Given the description of an element on the screen output the (x, y) to click on. 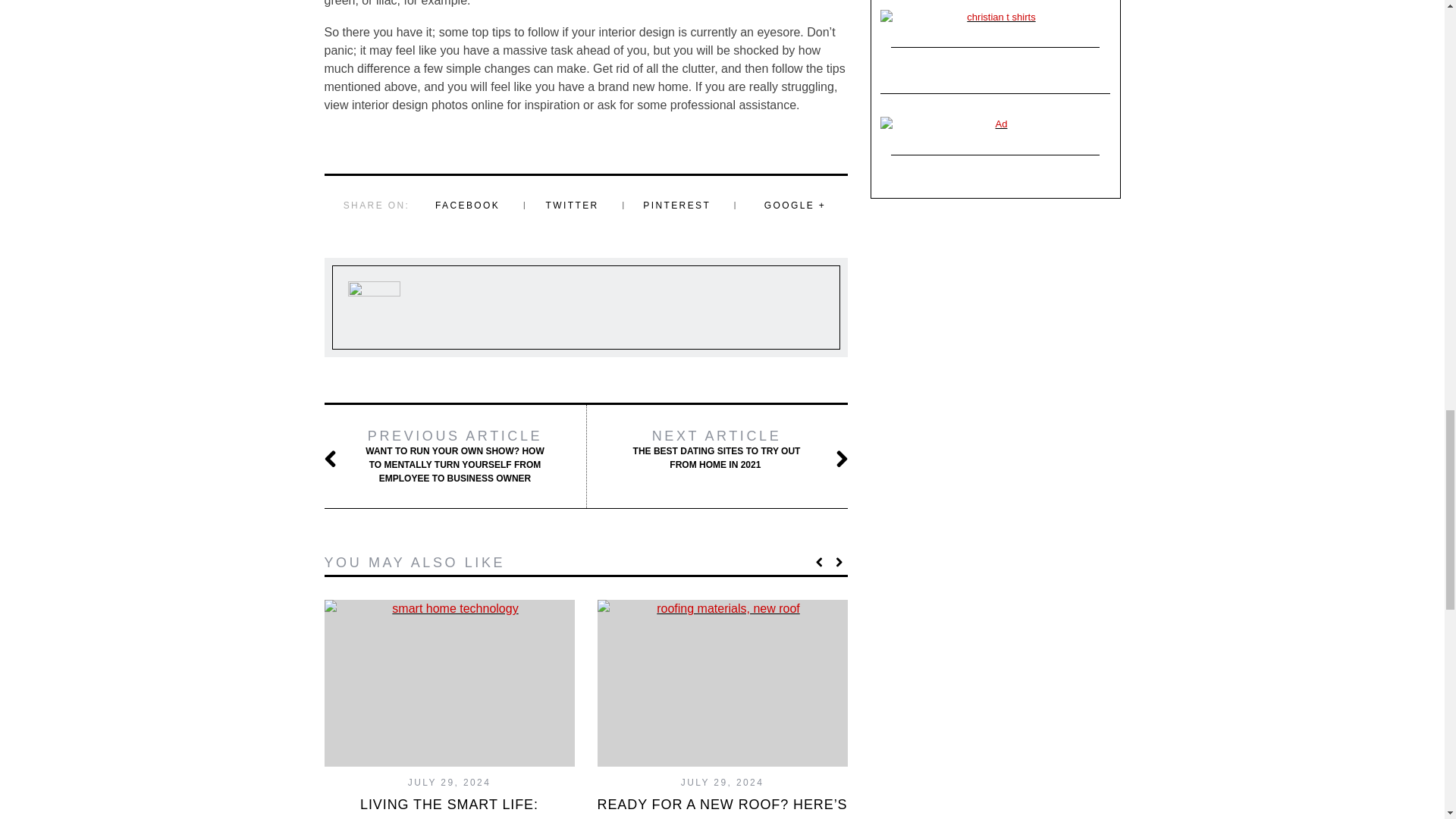
christian t shirts (994, 17)
